Given the description of an element on the screen output the (x, y) to click on. 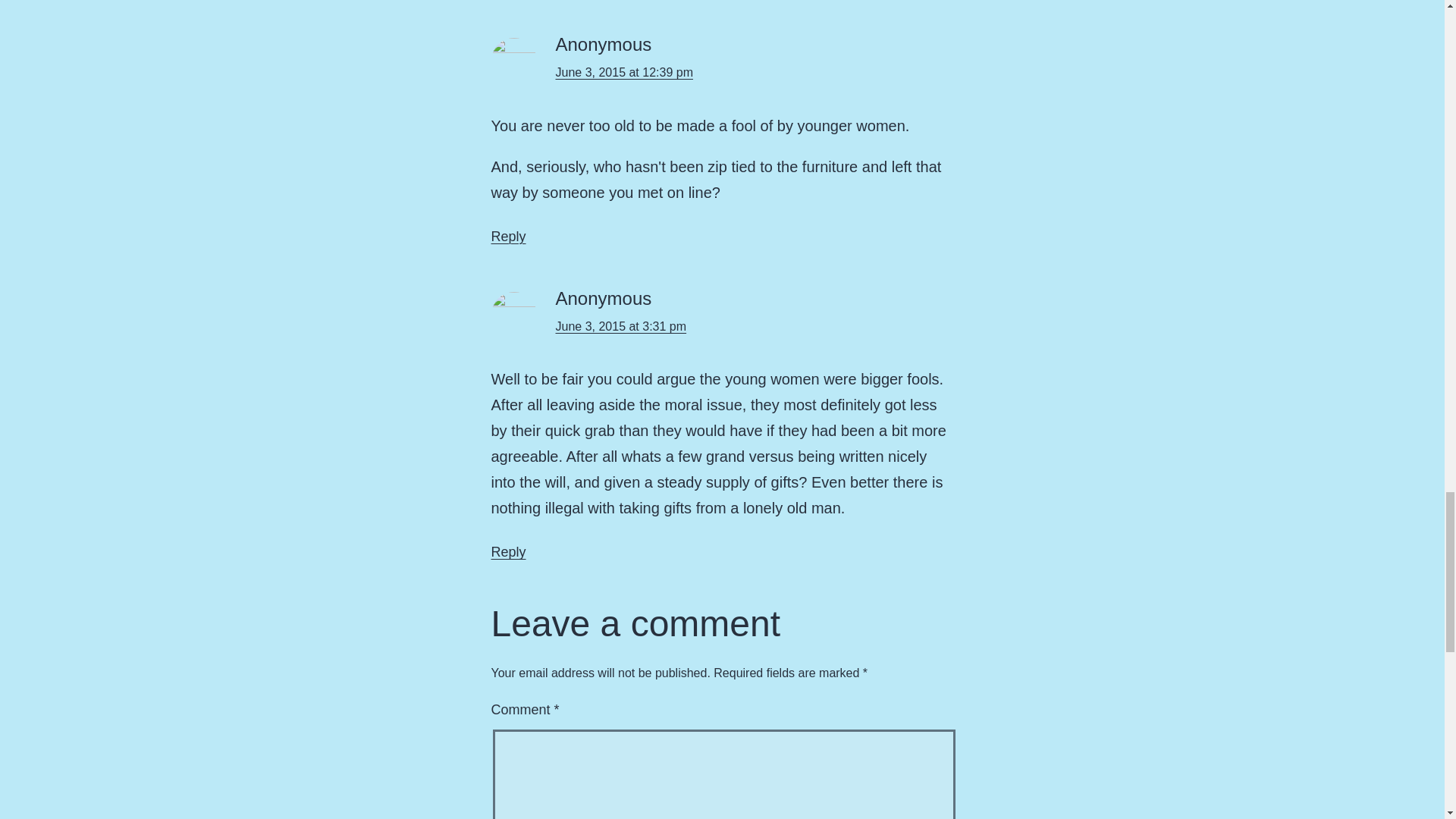
Reply (508, 551)
June 3, 2015 at 12:39 pm (623, 72)
June 3, 2015 at 3:31 pm (619, 326)
Reply (508, 236)
